Given the description of an element on the screen output the (x, y) to click on. 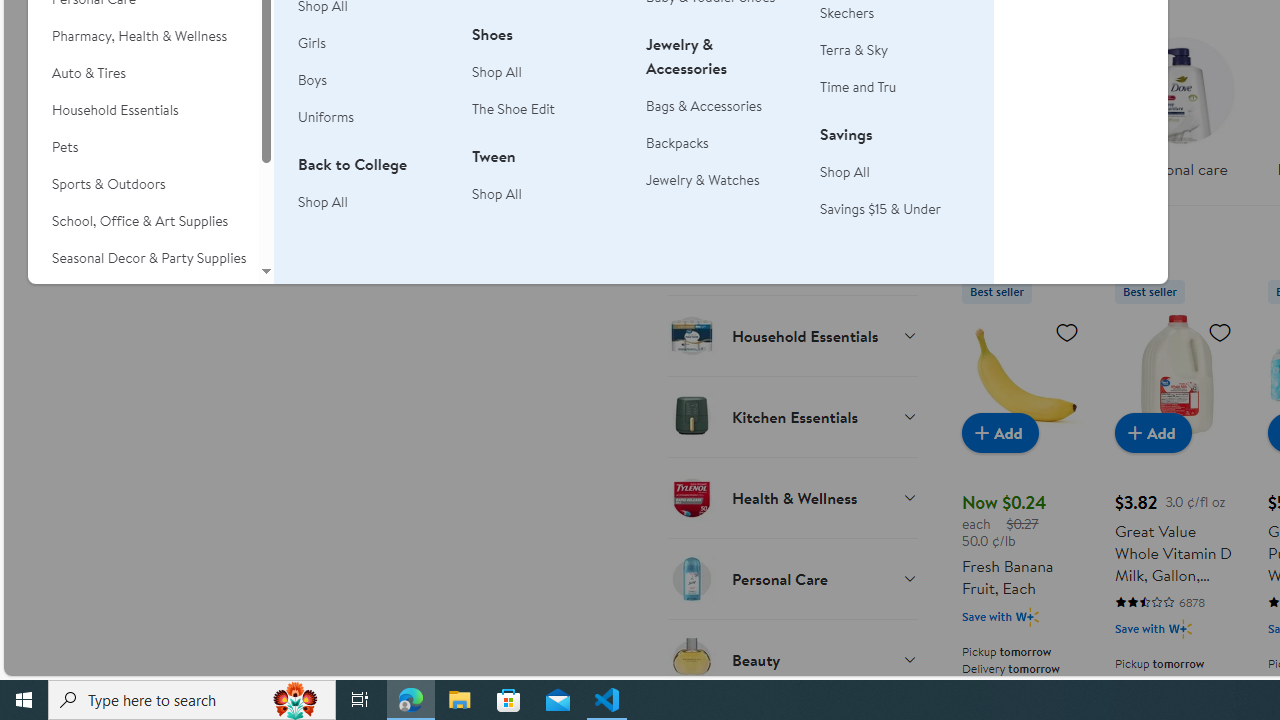
TweenShop All (547, 186)
Uniforms (373, 117)
Seasonal Decor & Party Supplies (143, 258)
Pharmacy, Health & Wellness (143, 36)
SavingsShop AllSavings $15 & Under (895, 182)
Terra & Sky (895, 50)
Movies, Music & Books (143, 295)
Skechers (895, 12)
Boys (373, 79)
Jewelry & Watches (703, 179)
Girls (312, 43)
Skechers (847, 12)
Bags & Accessories (721, 105)
